Given the description of an element on the screen output the (x, y) to click on. 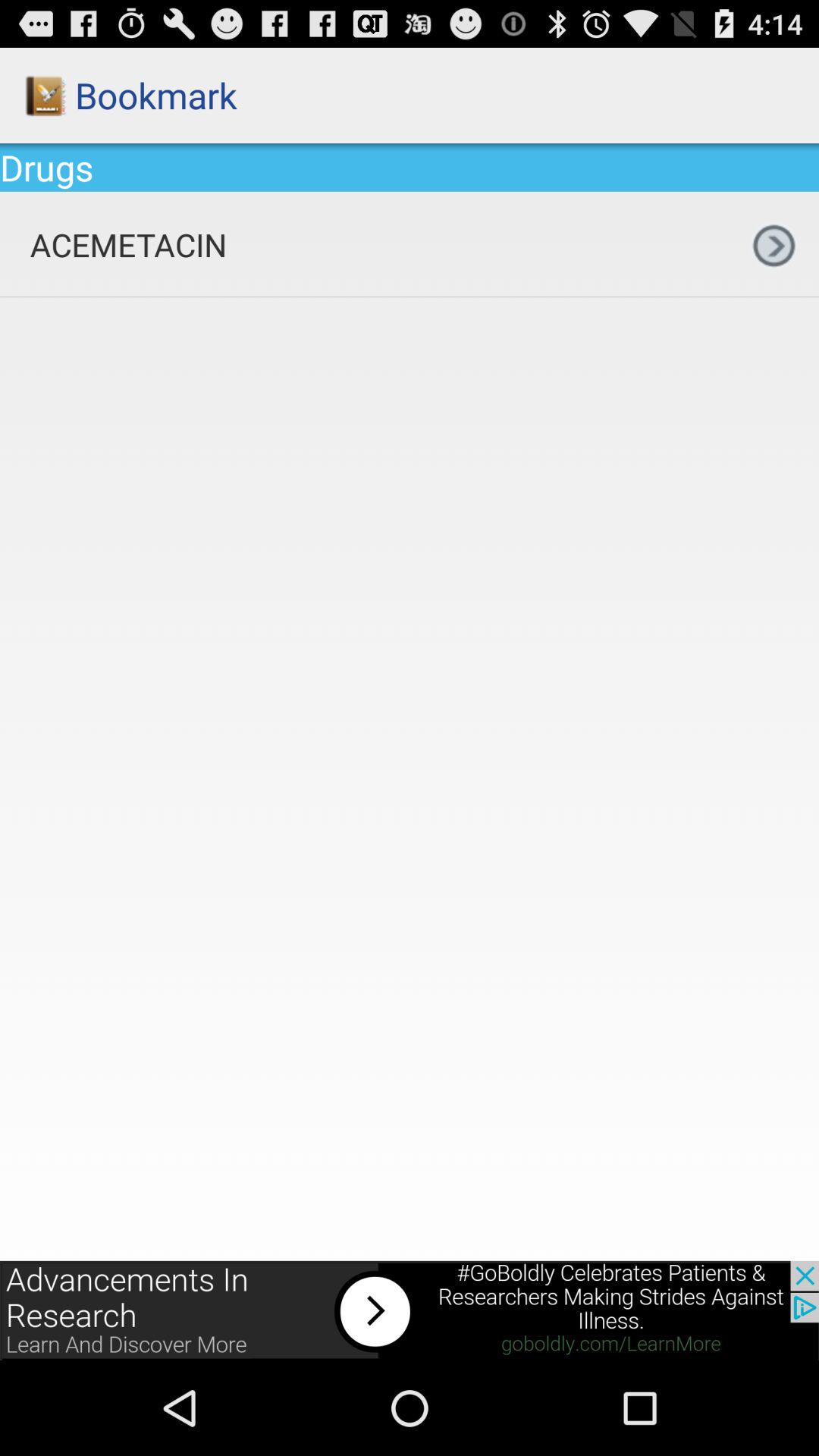
click for more info (409, 1310)
